Given the description of an element on the screen output the (x, y) to click on. 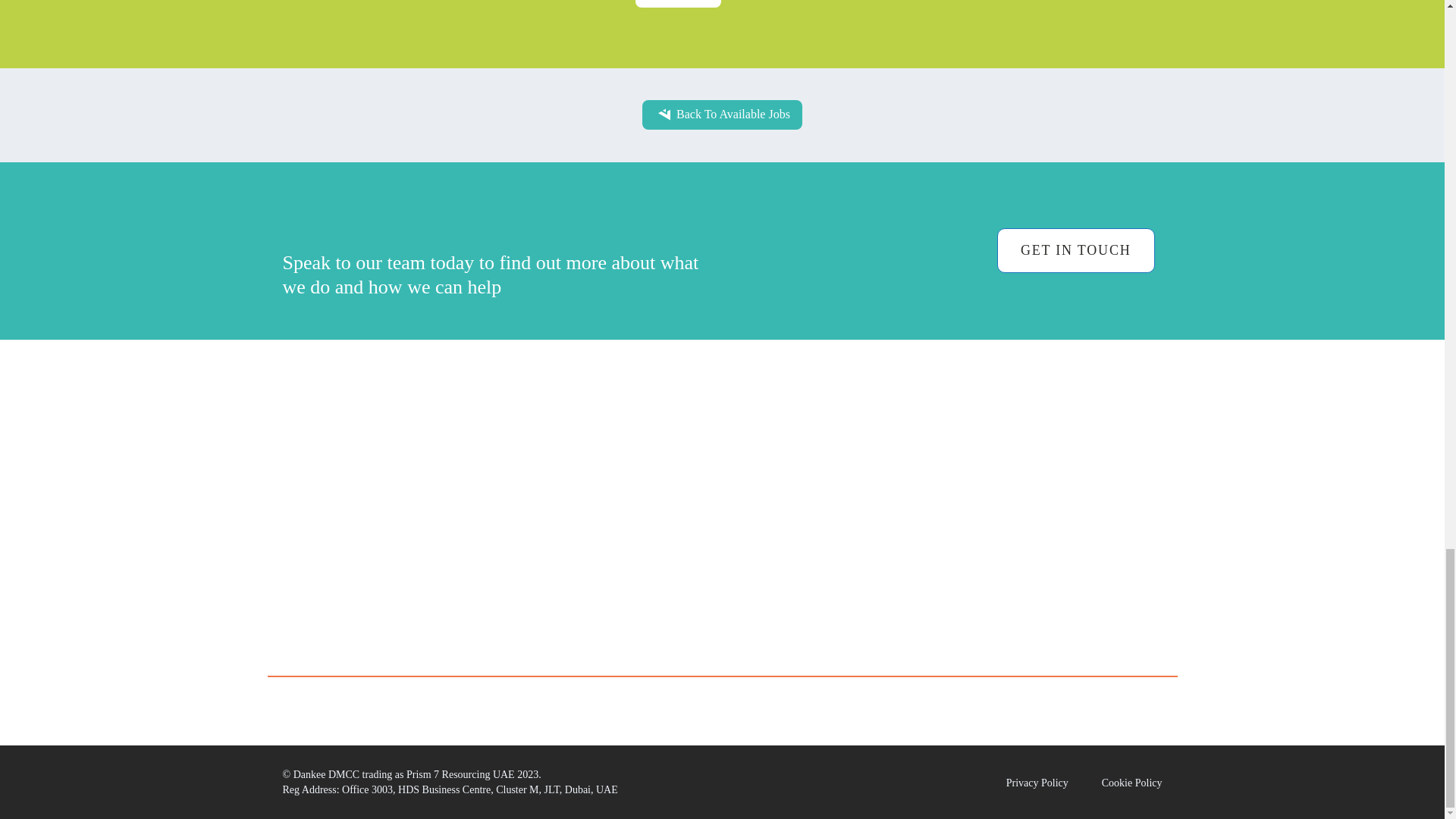
SUBMIT (677, 3)
Back To Available Jobs (722, 113)
GET IN TOUCH (1075, 250)
